Given the description of an element on the screen output the (x, y) to click on. 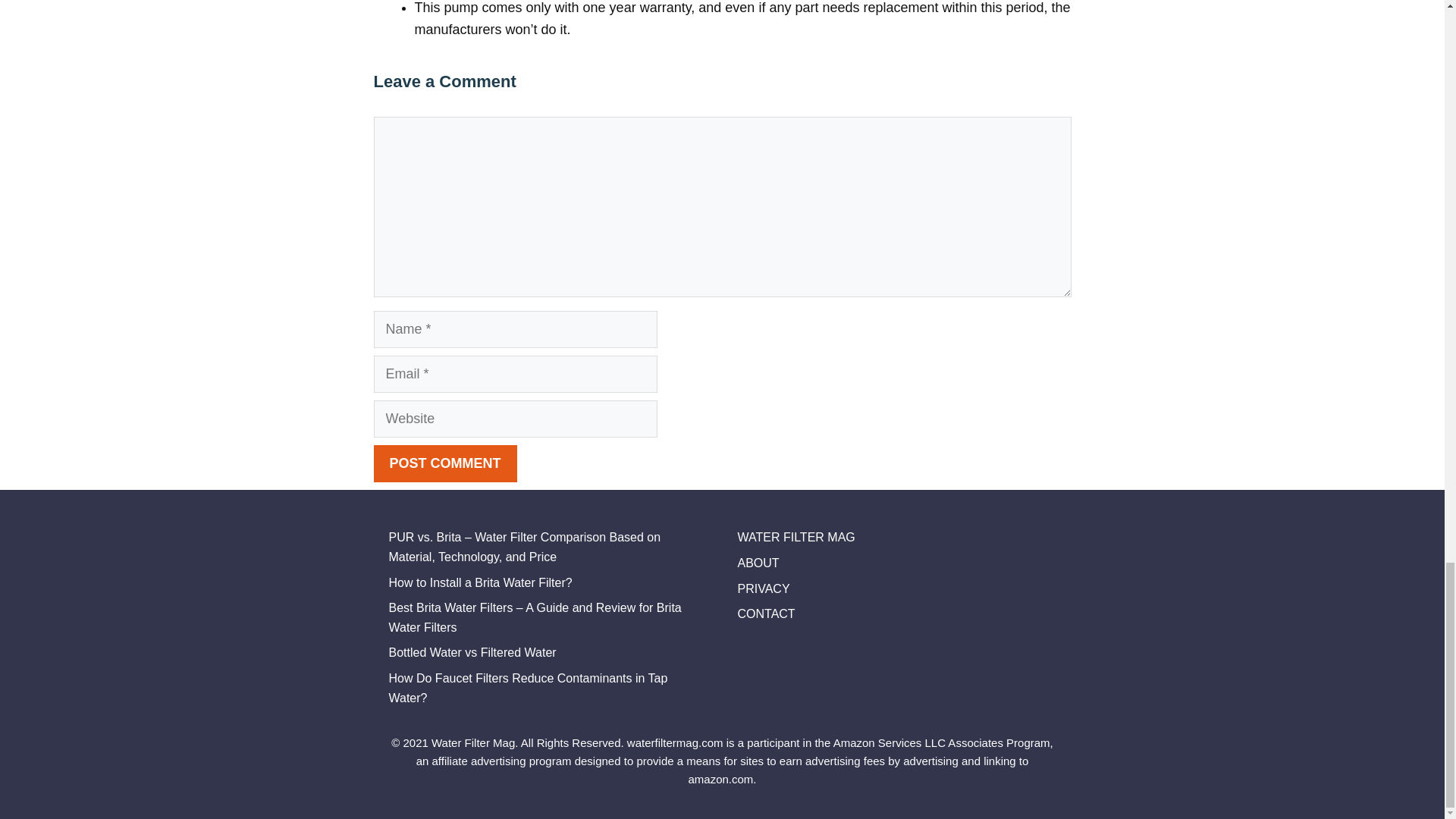
How to Install a Brita Water Filter? (480, 582)
Post Comment (444, 463)
Post Comment (444, 463)
Bottled Water vs Filtered Water (472, 652)
